Given the description of an element on the screen output the (x, y) to click on. 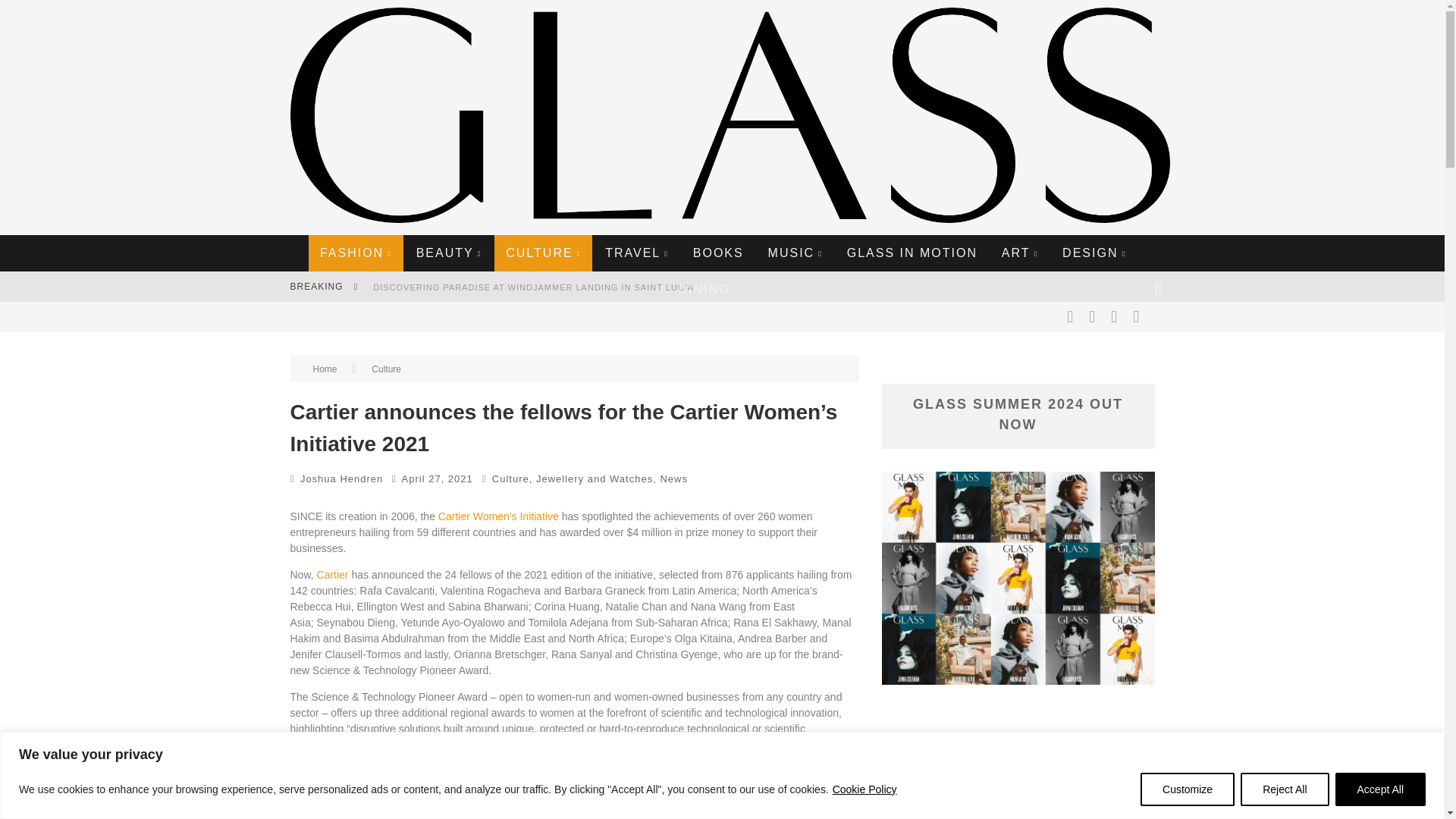
Cookie Policy (864, 789)
Customize (1187, 788)
Accept All (1380, 788)
Reject All (1283, 788)
